Given the description of an element on the screen output the (x, y) to click on. 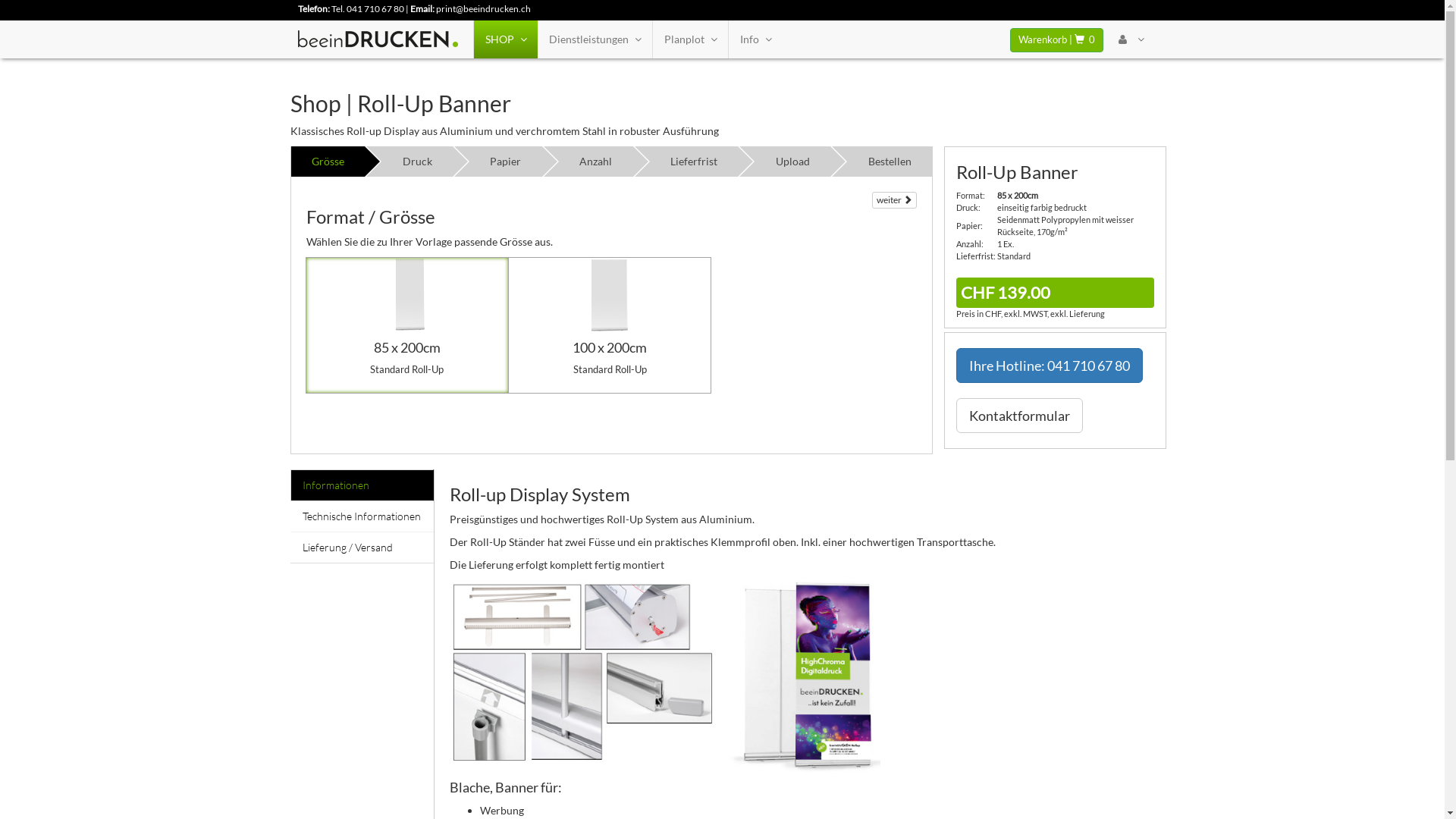
Upload Element type: text (792, 161)
Lieferung / Versand Element type: text (361, 547)
Informationen Element type: text (361, 485)
Tel. 041 710 67 80 Element type: text (366, 8)
Info Element type: text (754, 39)
weiter Element type: text (894, 199)
Anzahl Element type: text (595, 161)
Planplot Element type: text (689, 39)
Bestellen Element type: text (889, 161)
print@beeindrucken.ch Element type: text (482, 8)
Druck Element type: text (416, 161)
Papier Element type: text (505, 161)
Dienstleistungen Element type: text (593, 39)
Technische Informationen Element type: text (361, 516)
Lieferfrist Element type: text (693, 161)
Warenkorb |   0 Element type: text (1056, 40)
  Element type: text (1130, 39)
SHOP Element type: text (504, 39)
Ihre Hotline: 041 710 67 80 Element type: text (1049, 365)
Kontaktformular Element type: text (1019, 415)
